Given the description of an element on the screen output the (x, y) to click on. 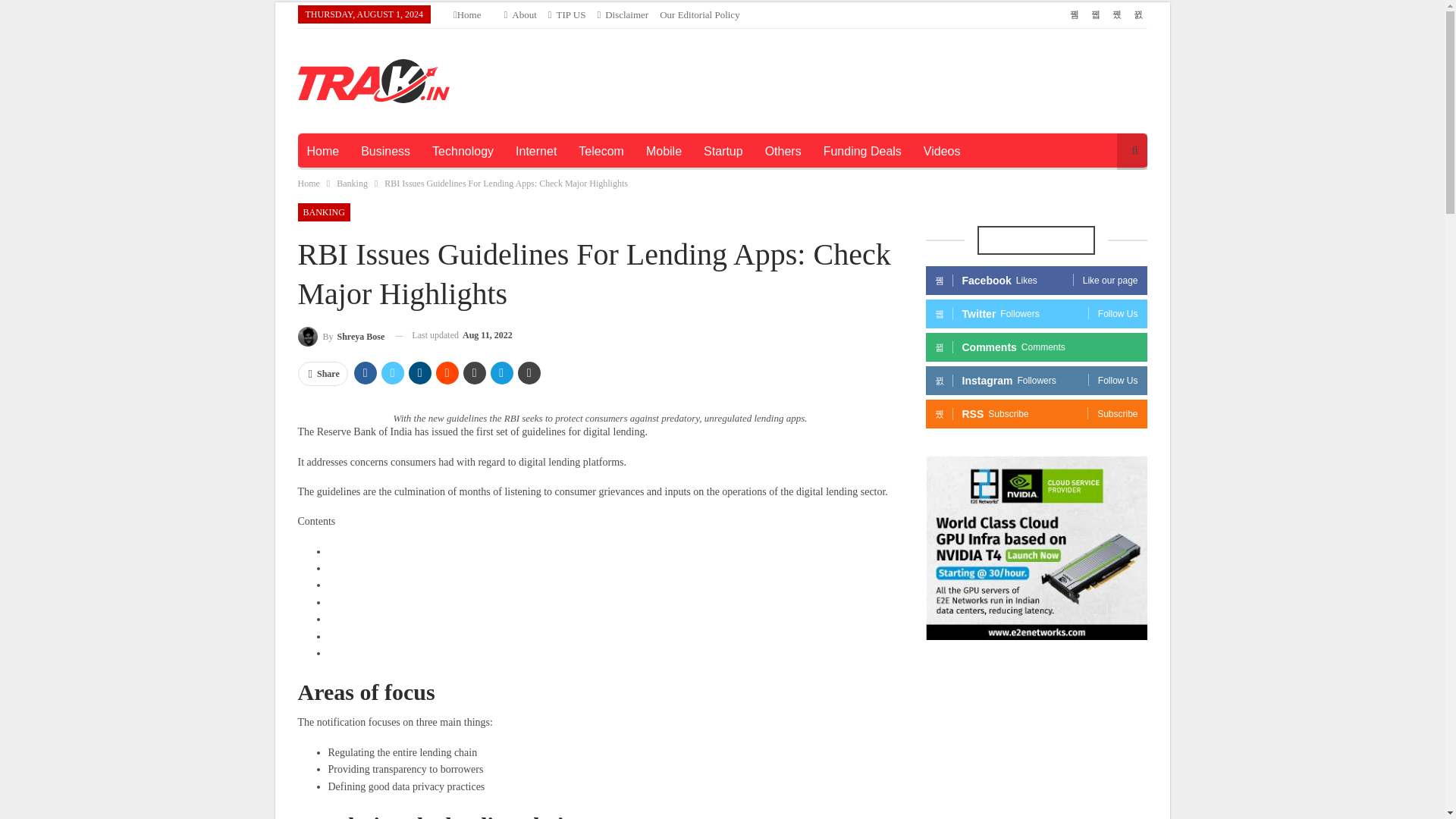
Our Editorial Policy (699, 14)
Mobile (663, 151)
Browse Author Articles (340, 335)
Startup (723, 151)
TIP US (567, 14)
Home (467, 14)
Banking (352, 183)
Get in Touch (567, 14)
Home (307, 183)
BANKING (323, 212)
Disclaimer (621, 14)
Telecom (601, 151)
By Shreya Bose (340, 335)
Videos (941, 151)
Home (322, 151)
